Given the description of an element on the screen output the (x, y) to click on. 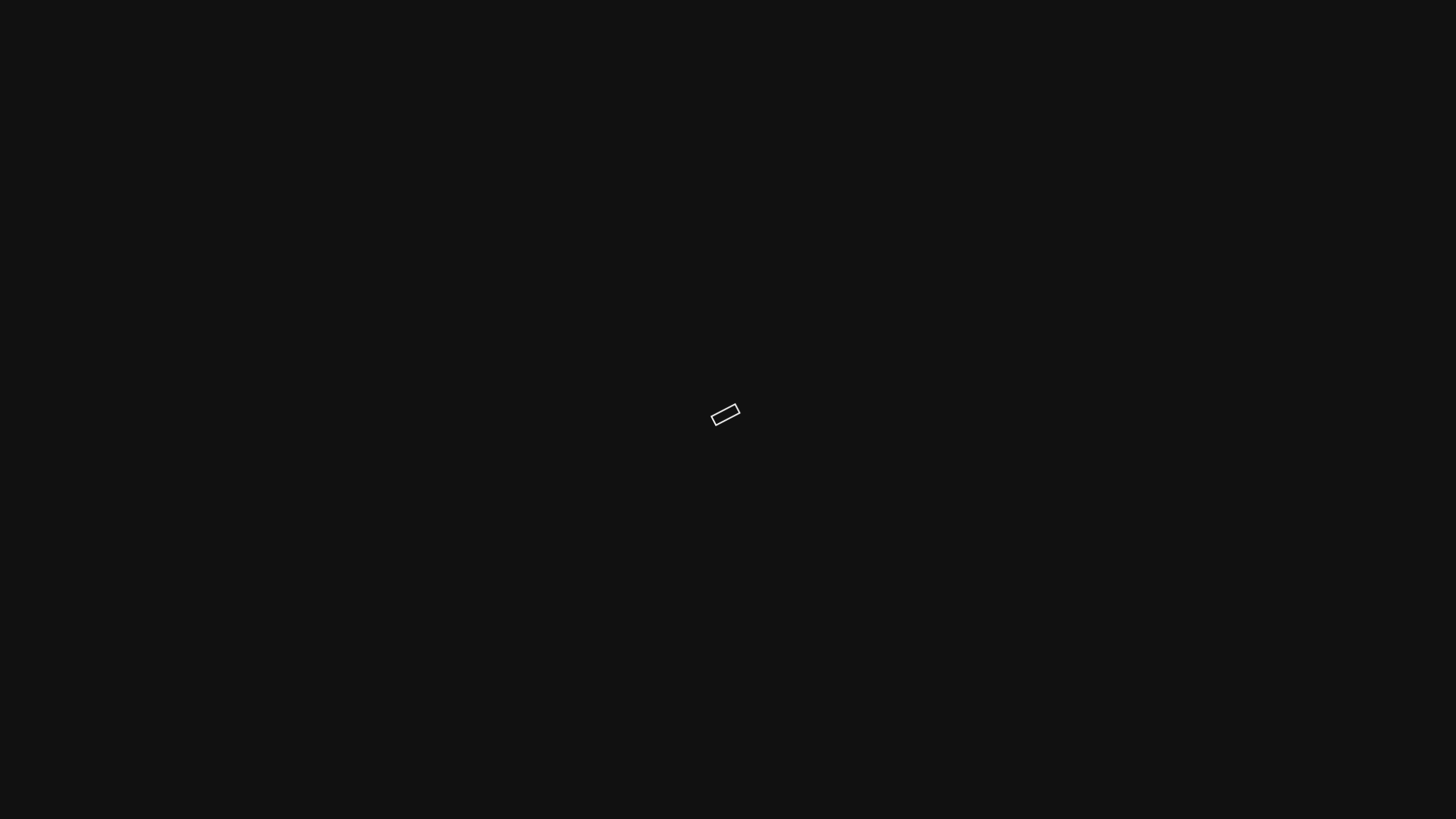
info@bodenwerkstatt.ch Element type: text (944, 114)
